Given the description of an element on the screen output the (x, y) to click on. 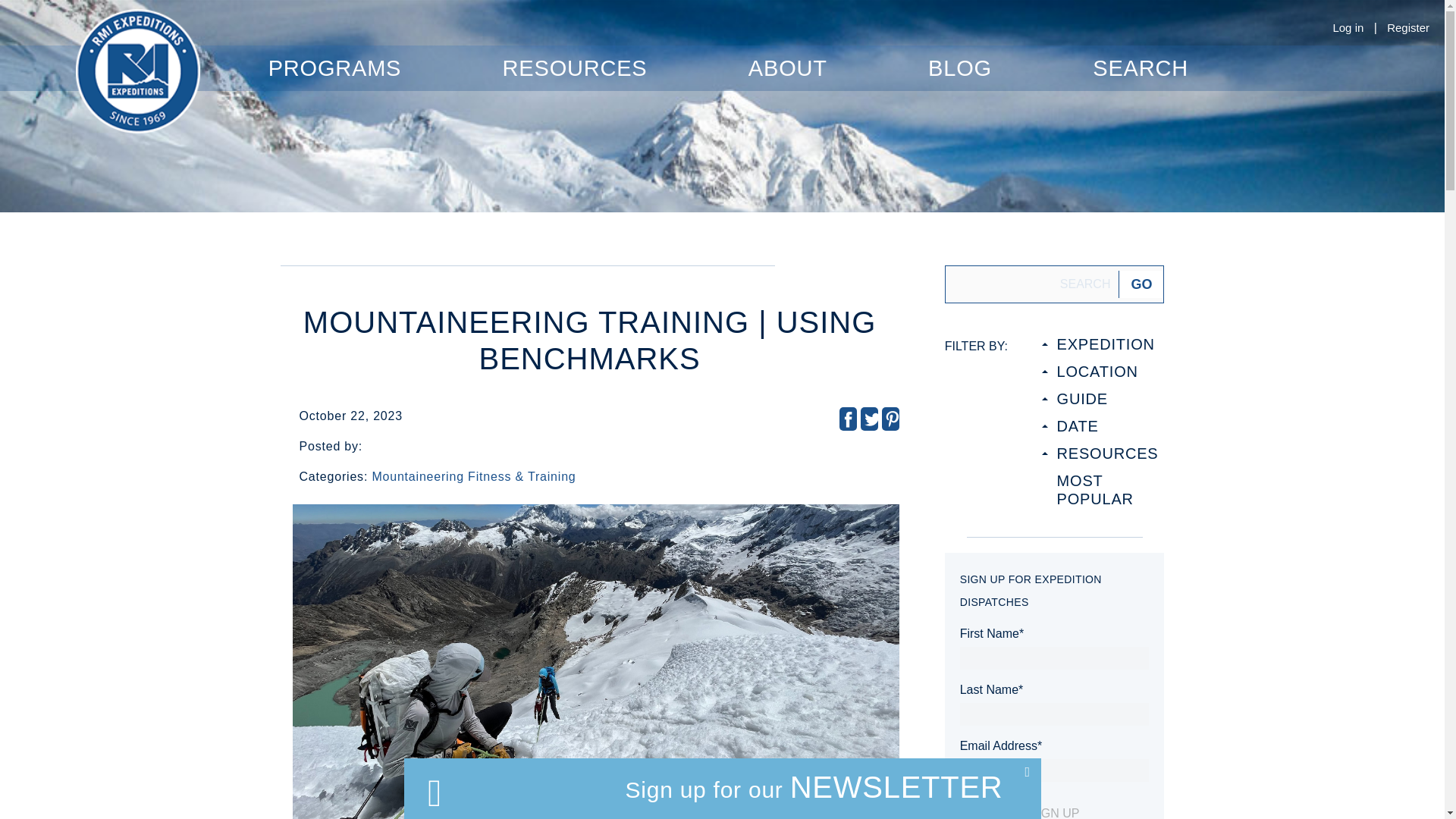
Go (1140, 284)
Register (1408, 27)
Log in (1347, 27)
Go (1140, 284)
Sign Up (1054, 811)
PROGRAMS (334, 68)
